Given the description of an element on the screen output the (x, y) to click on. 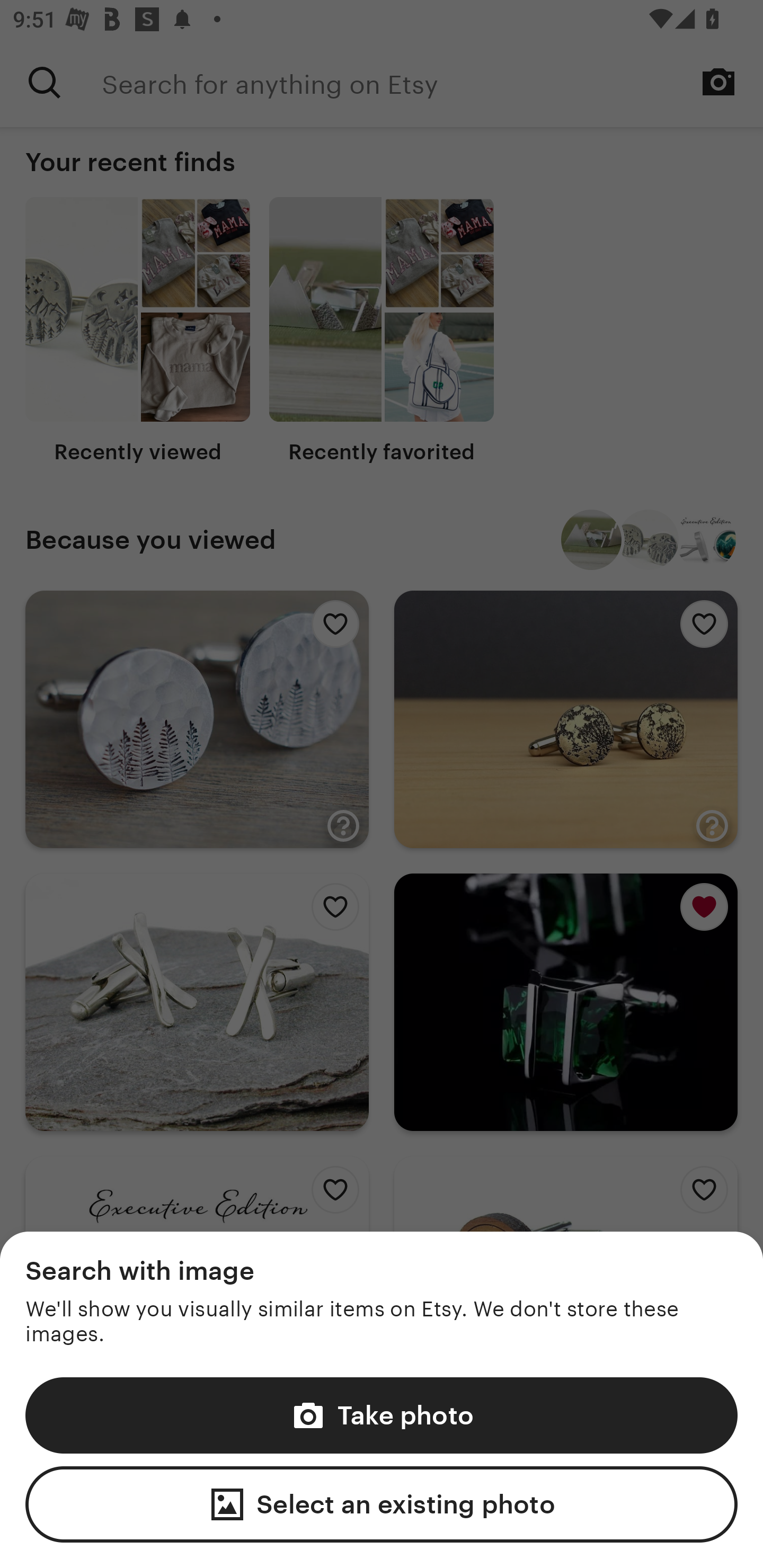
Take photo (381, 1414)
Select an existing photo (381, 1504)
